Given the description of an element on the screen output the (x, y) to click on. 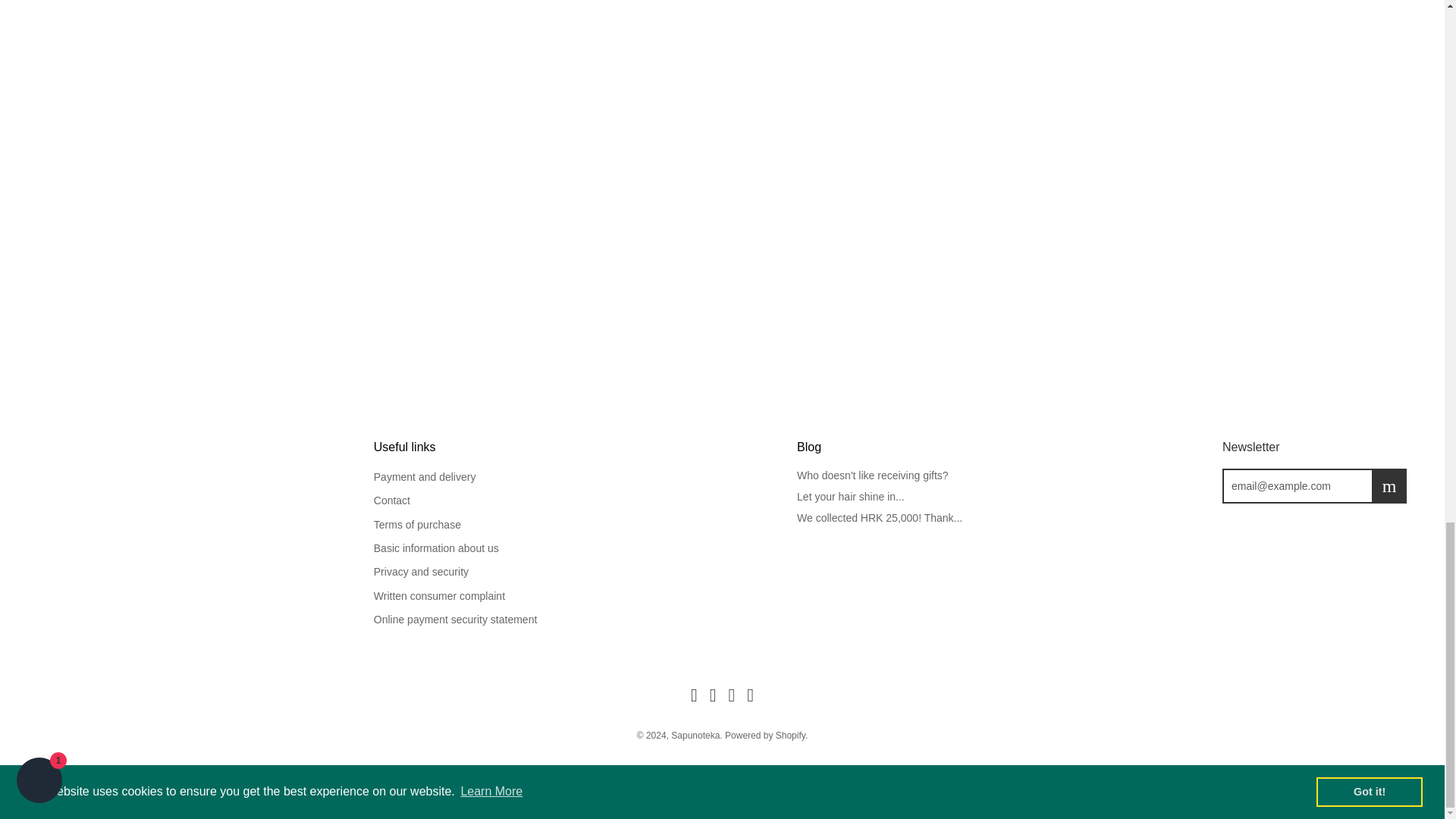
Let your hair shine in the  (850, 496)
Who doesn't like receiving gifts? (872, 475)
